Given the description of an element on the screen output the (x, y) to click on. 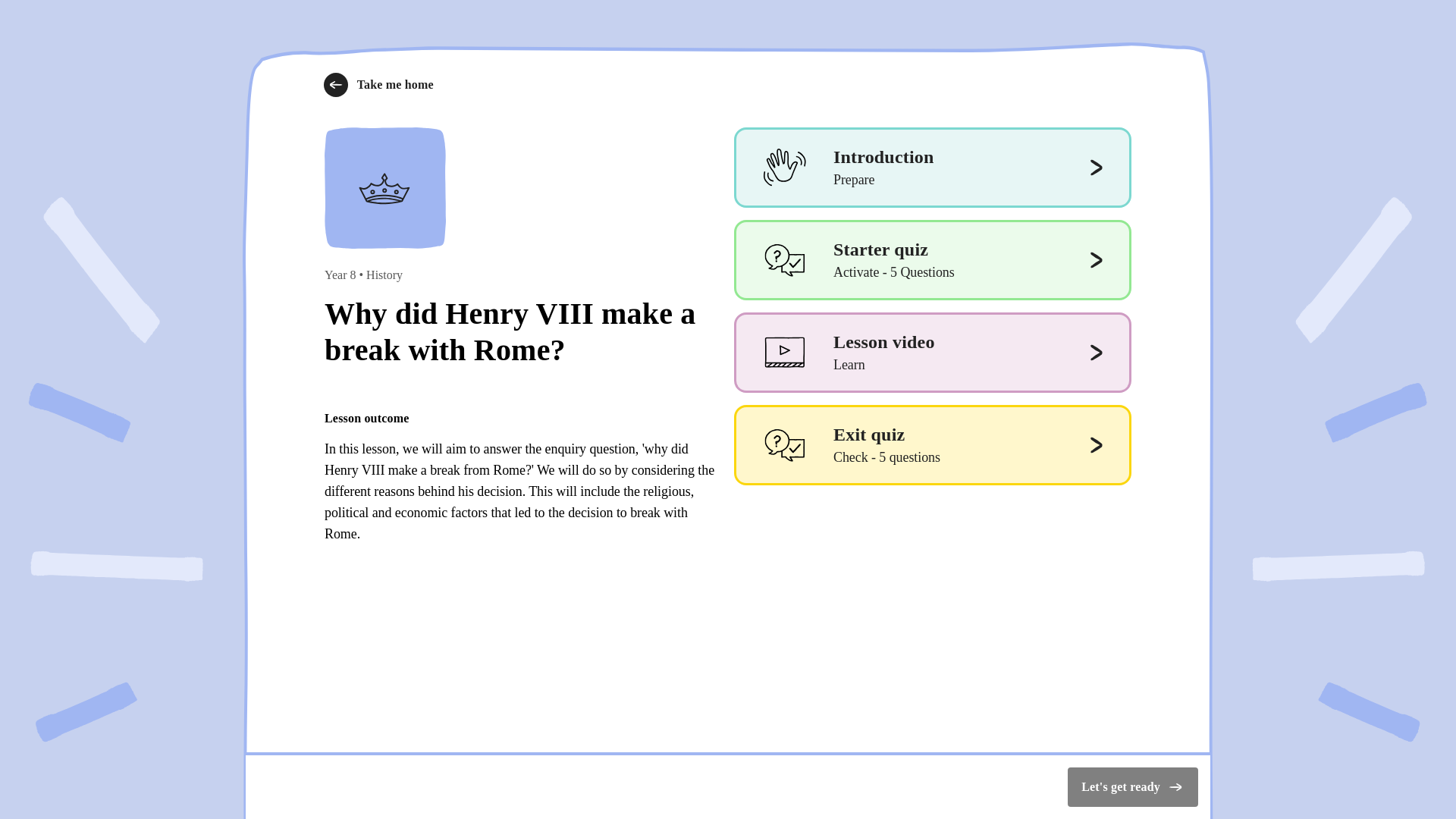
Take me home (378, 84)
Let's get ready (1132, 786)
